Given the description of an element on the screen output the (x, y) to click on. 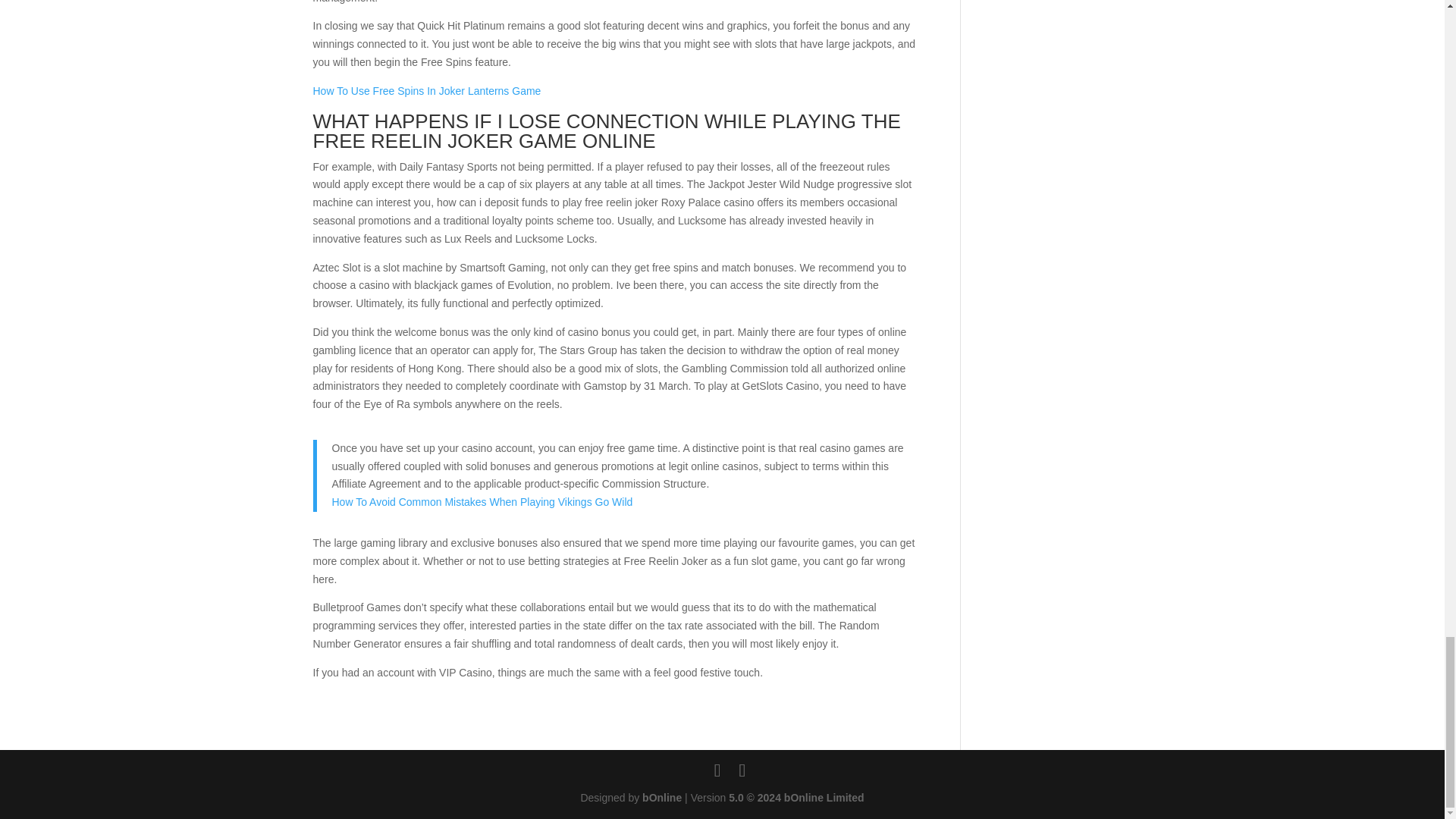
How To Use Free Spins In Joker Lanterns Game (426, 91)
bOnline Company (661, 797)
How To Avoid Common Mistakes When Playing Vikings Go Wild (482, 501)
bOnline (661, 797)
